Given the description of an element on the screen output the (x, y) to click on. 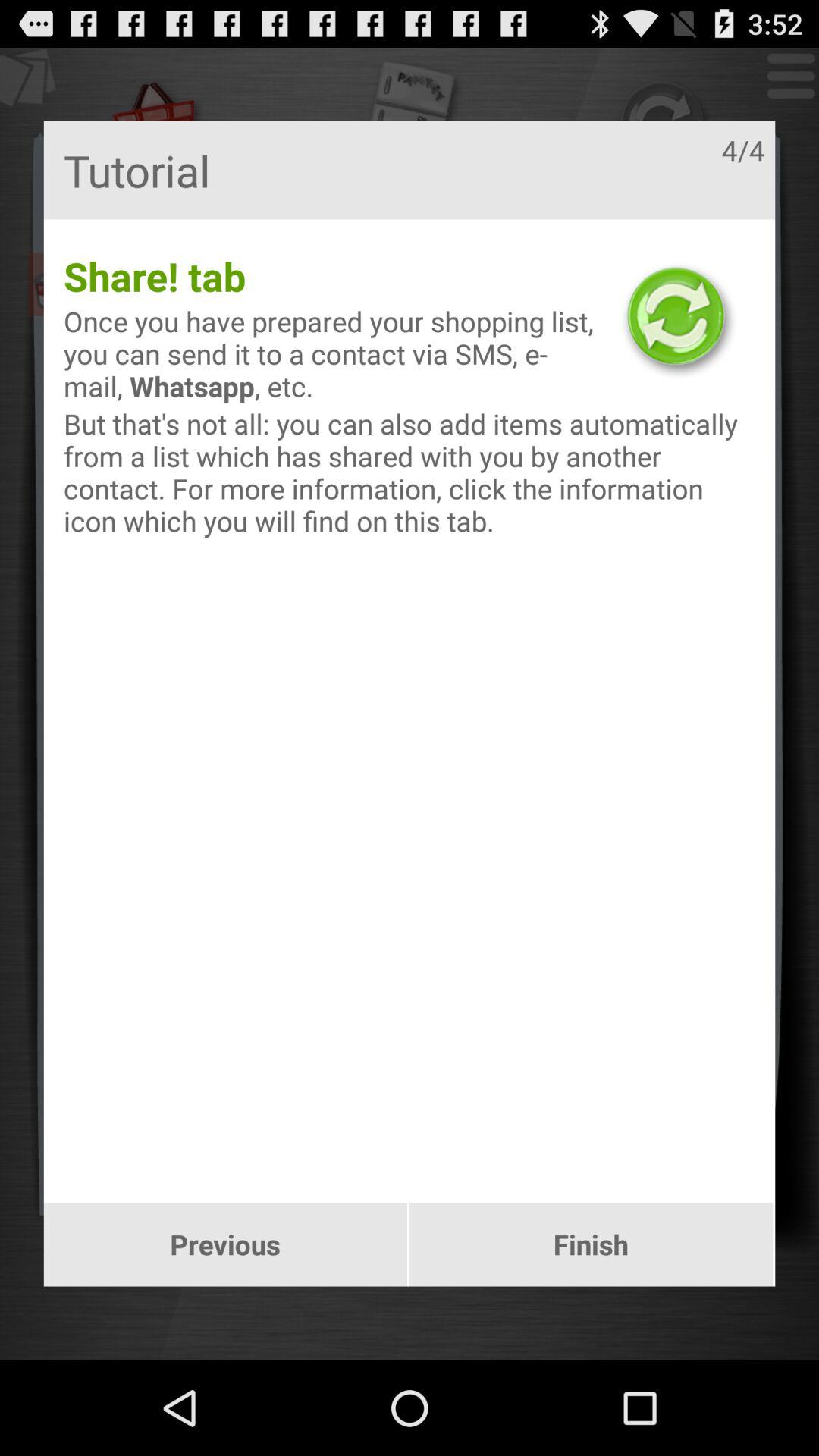
turn on the icon at the bottom left corner (225, 1244)
